Given the description of an element on the screen output the (x, y) to click on. 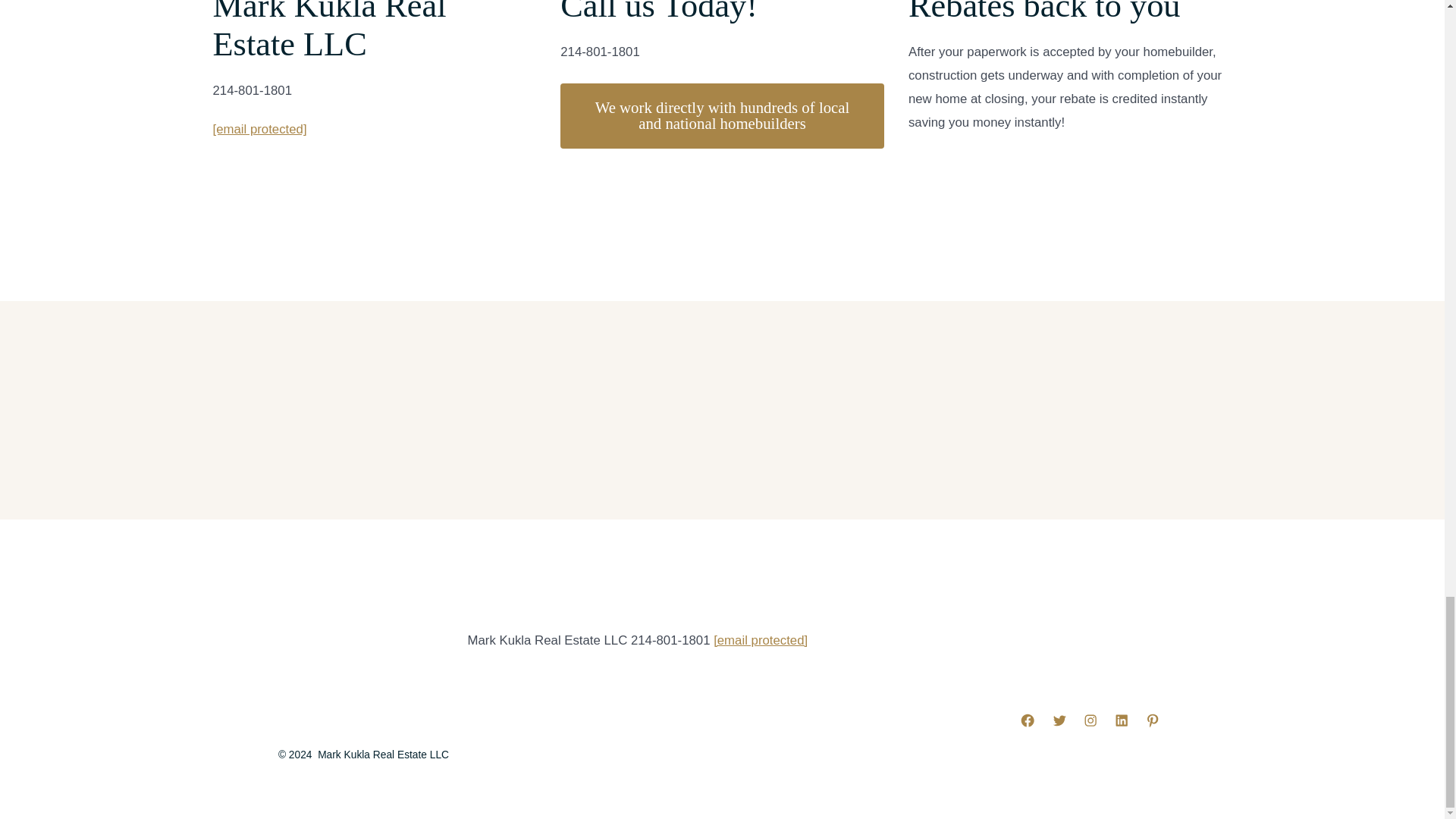
Open LinkedIn in a new tab (1121, 719)
Open Facebook in a new tab (1027, 719)
Open Twitter in a new tab (1059, 719)
Open Instagram in a new tab (1090, 719)
Open Pinterest in a new tab (1152, 719)
